Given the description of an element on the screen output the (x, y) to click on. 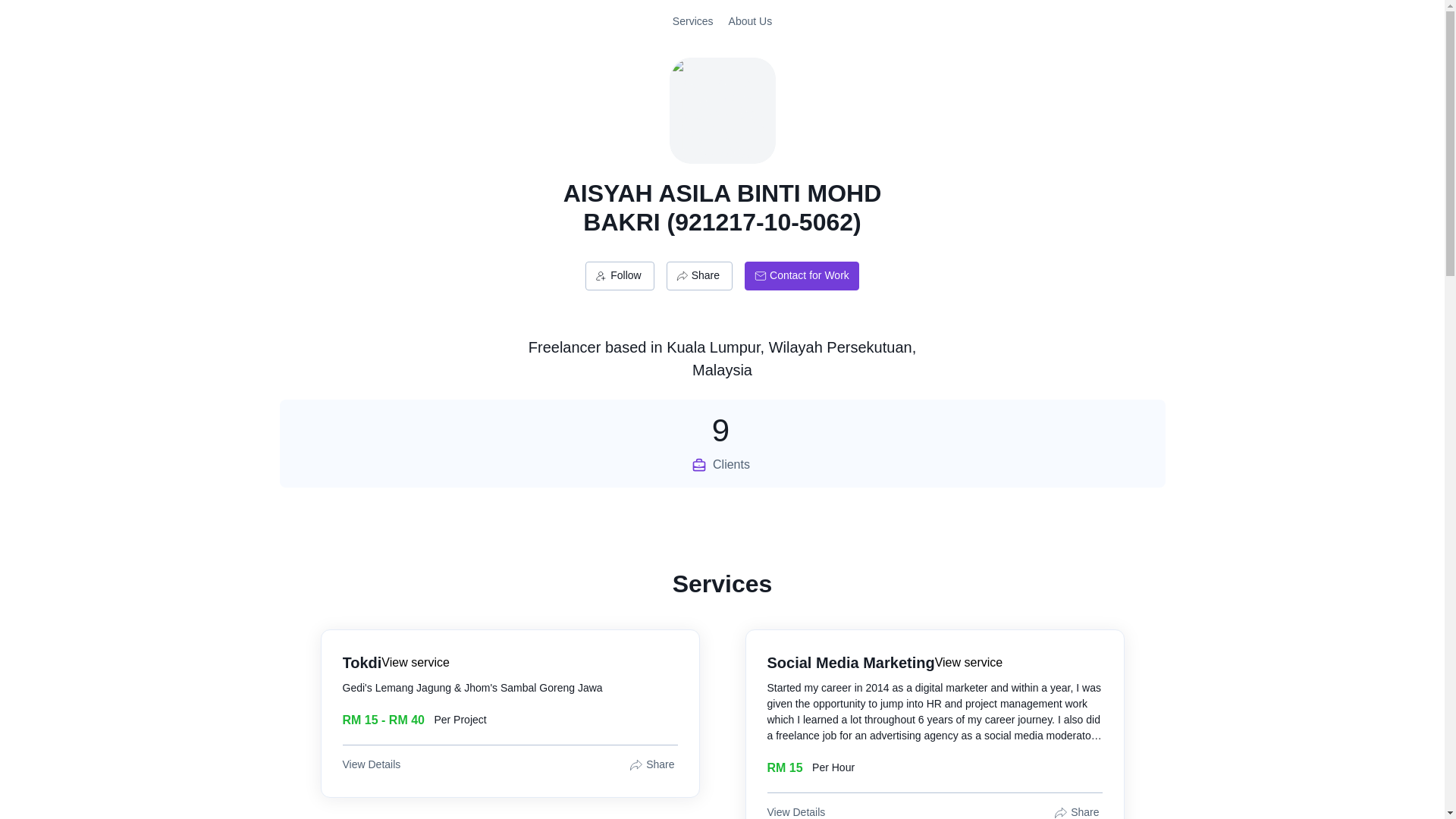
View Details (797, 810)
Contact for Work (801, 275)
Share (652, 764)
Share (1078, 810)
View Details (373, 764)
Follow (619, 275)
Share (721, 443)
Contact for Work (699, 275)
